Given the description of an element on the screen output the (x, y) to click on. 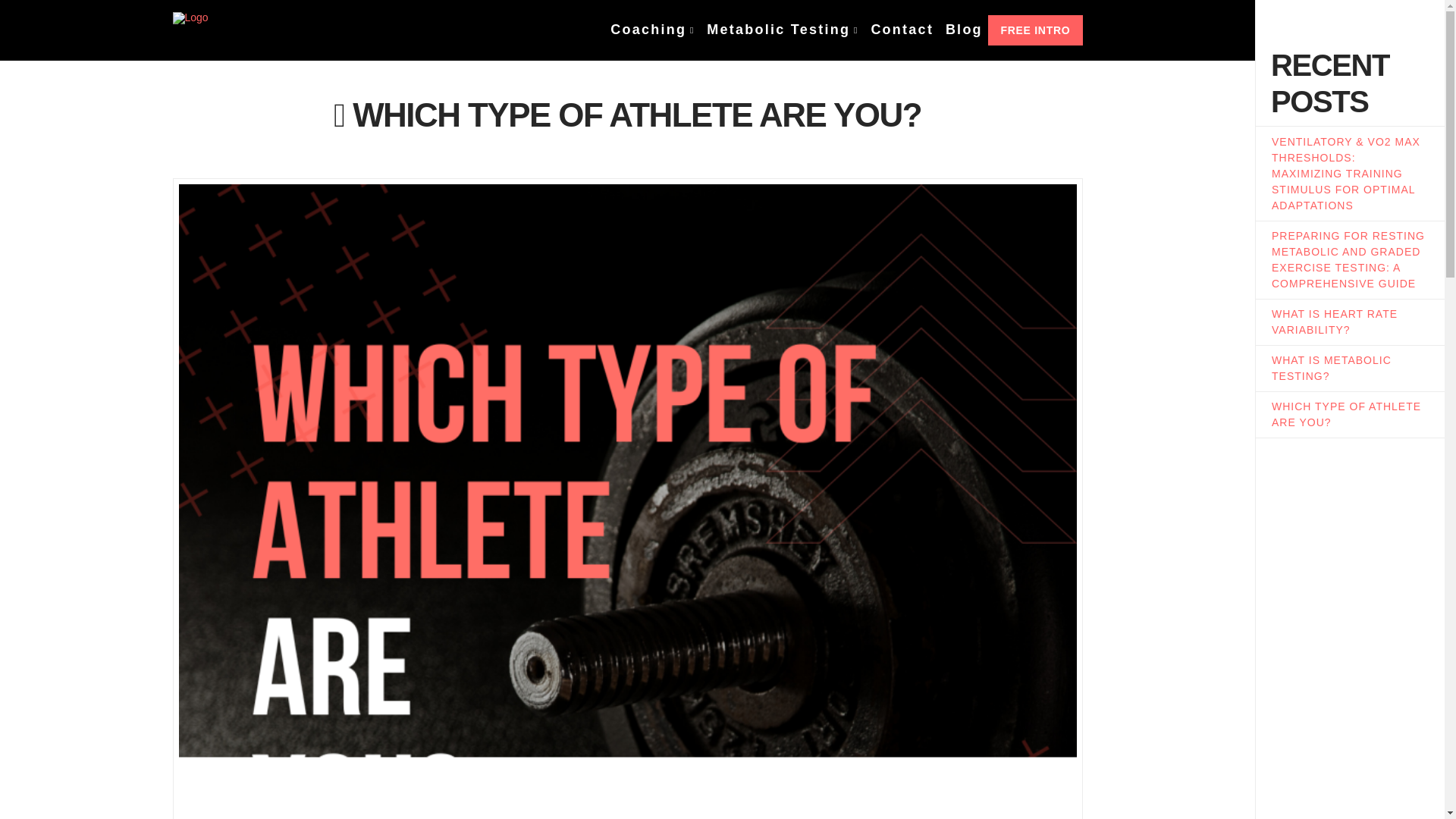
Contact (901, 29)
WHAT IS HEART RATE VARIABILITY? (1334, 321)
Metabolic Testing (781, 29)
Coaching (652, 29)
Blog (963, 29)
WHICH TYPE OF ATHLETE ARE YOU? (1346, 414)
FREE INTRO (1035, 30)
WHAT IS METABOLIC TESTING? (1331, 367)
